Given the description of an element on the screen output the (x, y) to click on. 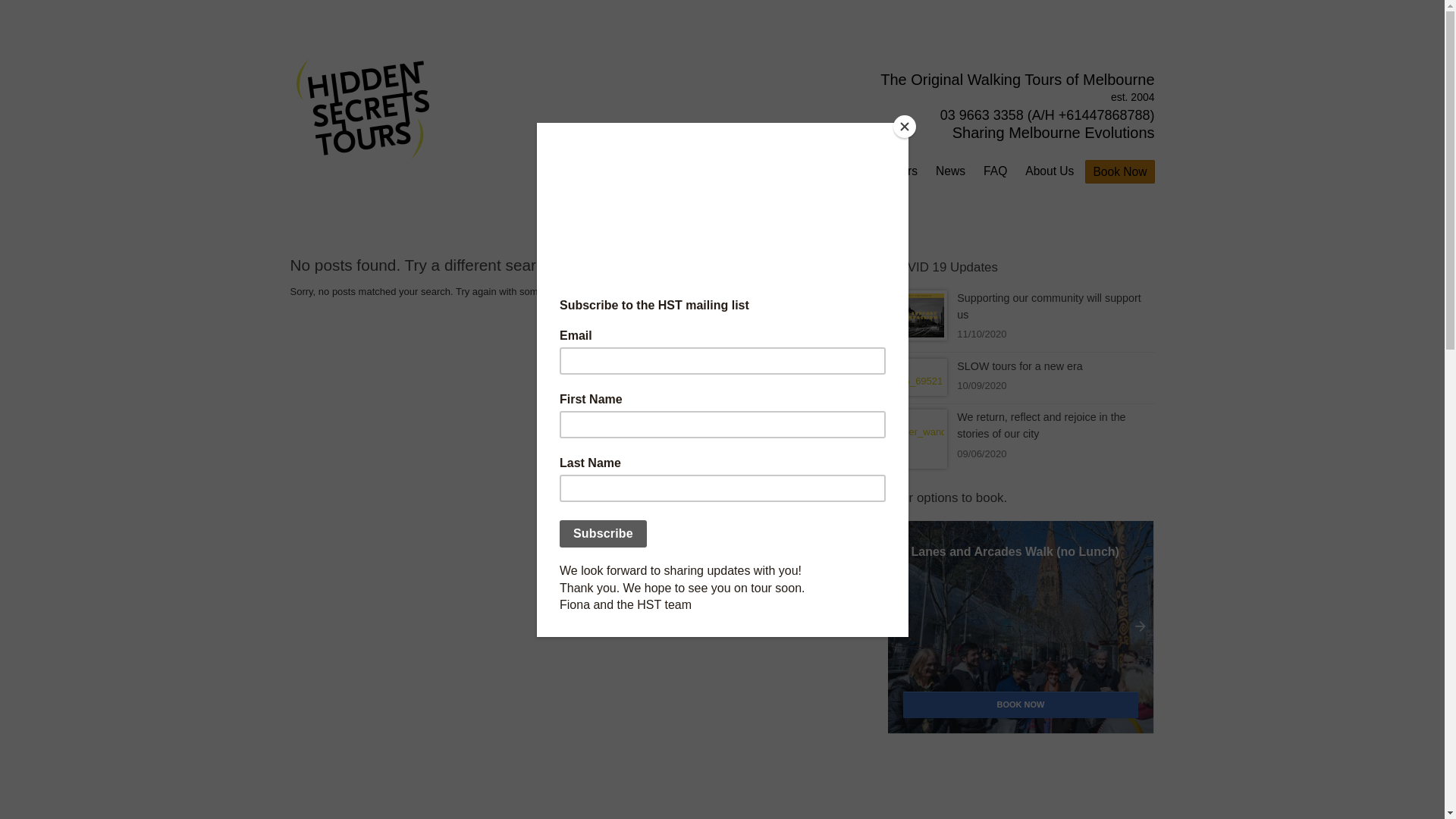
Email Element type: hover (1000, 59)
Facebook Element type: hover (1040, 59)
News Element type: text (950, 171)
SLOW tours for a new era Element type: text (1019, 366)
FAQ Element type: text (994, 171)
Google Element type: hover (1020, 59)
About Us Element type: text (1049, 171)
YouTube Element type: hover (1099, 59)
LinkedIn Element type: hover (1060, 59)
Tours of Melbourne Element type: text (612, 171)
Instagram Element type: hover (1148, 59)
Trip Advisor Element type: hover (1123, 59)
Twitter Element type: hover (1079, 59)
Gift Vouchers Element type: text (716, 171)
Supporting our community will support us Element type: text (1048, 305)
Corporate & Incentive Tours Element type: text (844, 171)
Book Now Element type: text (1119, 172)
We return, reflect and rejoice in the stories of our city Element type: text (1041, 425)
